Given the description of an element on the screen output the (x, y) to click on. 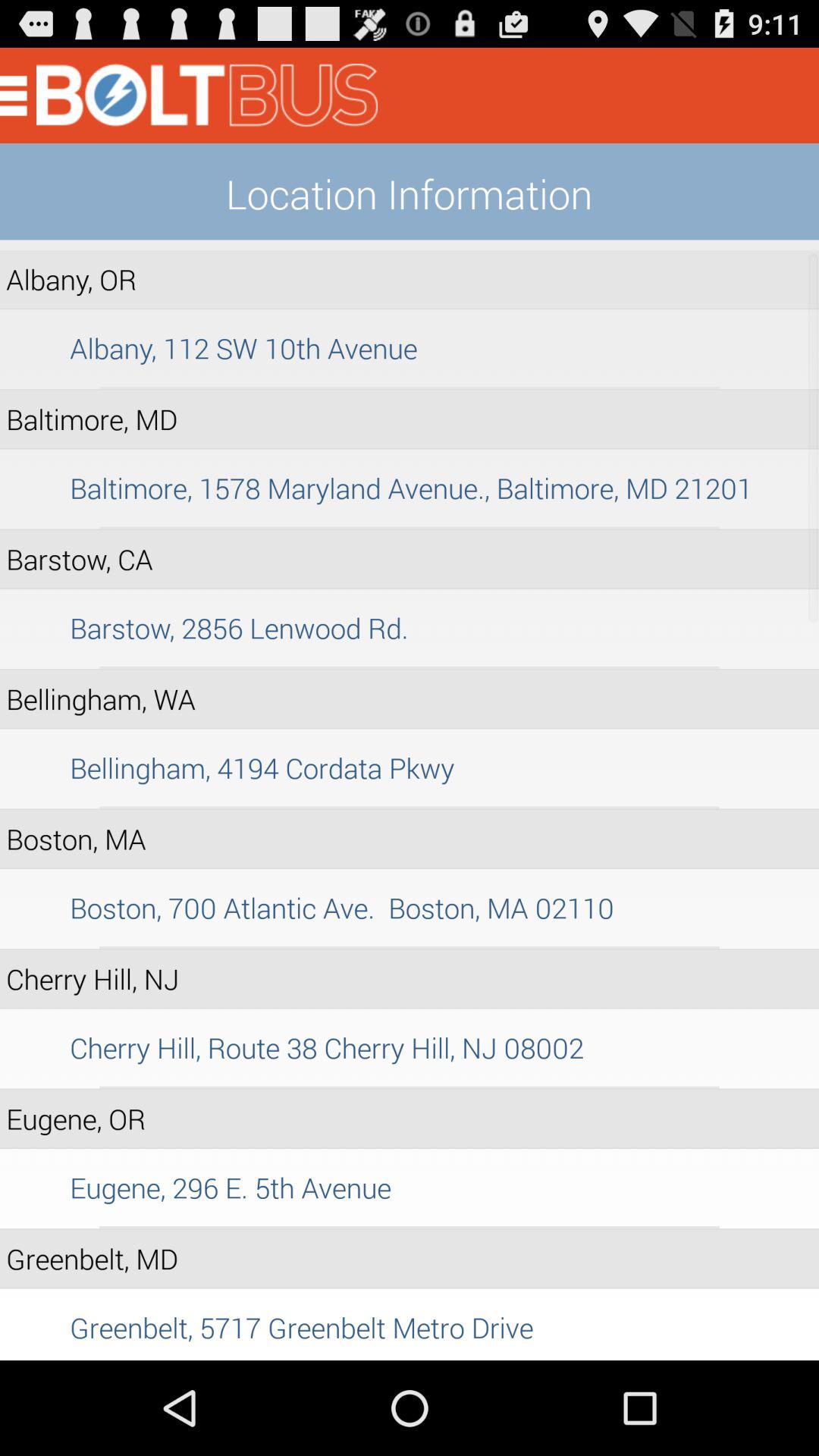
click icon above bellingham, wa icon (409, 667)
